Given the description of an element on the screen output the (x, y) to click on. 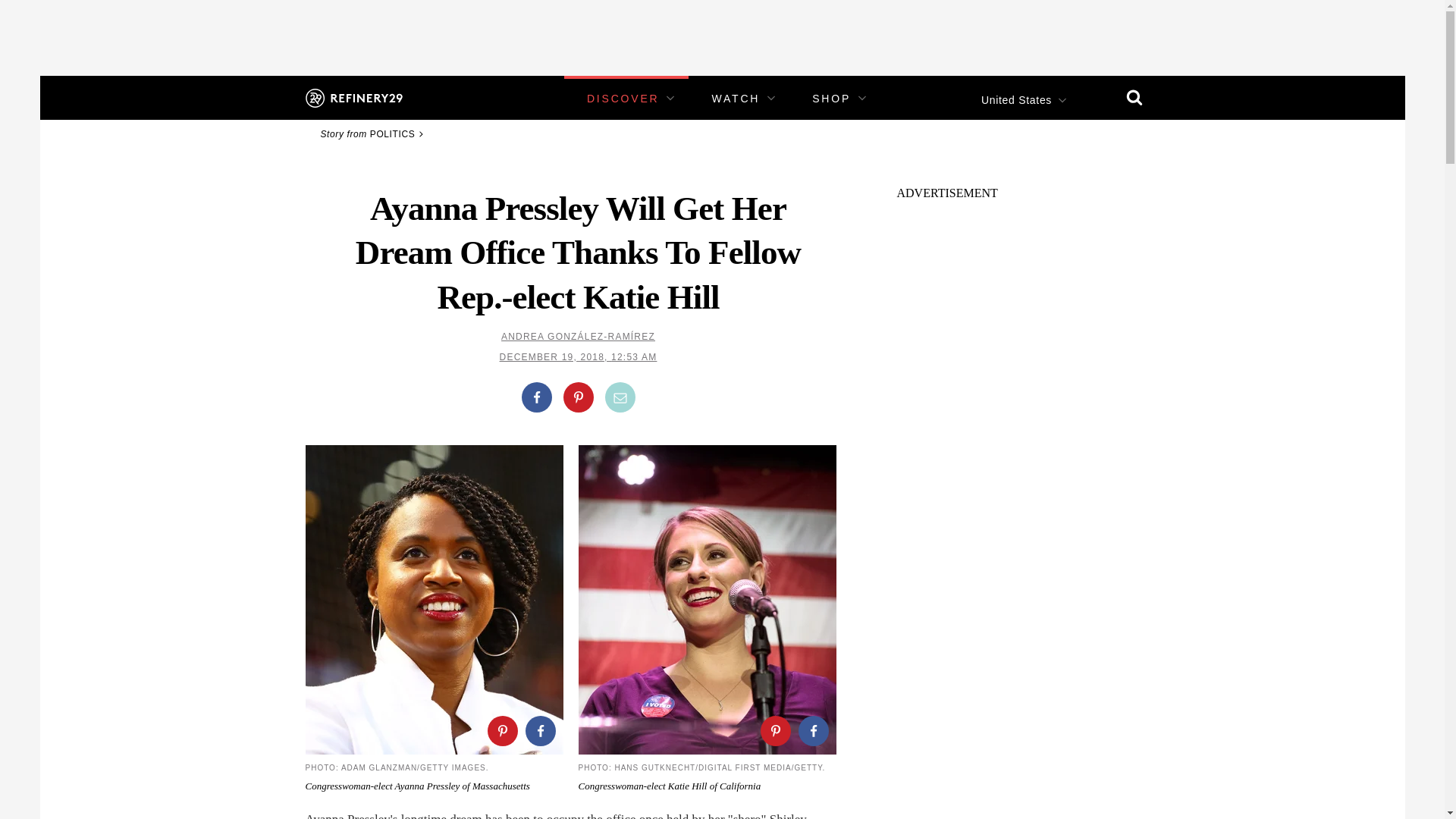
DISCOVER (622, 98)
Refinery29 (352, 97)
WATCH (735, 98)
Shirley Chisholm (555, 815)
Share on Pinterest (775, 730)
DECEMBER 19, 2018, 12:53 AM (578, 357)
Share on Pinterest (501, 730)
Share on Pinterest (577, 397)
Share on Facebook (536, 397)
Share by Email (619, 397)
Share on Facebook (812, 730)
Story from POLITICS (374, 133)
SHOP (831, 98)
Share on Facebook (539, 730)
